Given the description of an element on the screen output the (x, y) to click on. 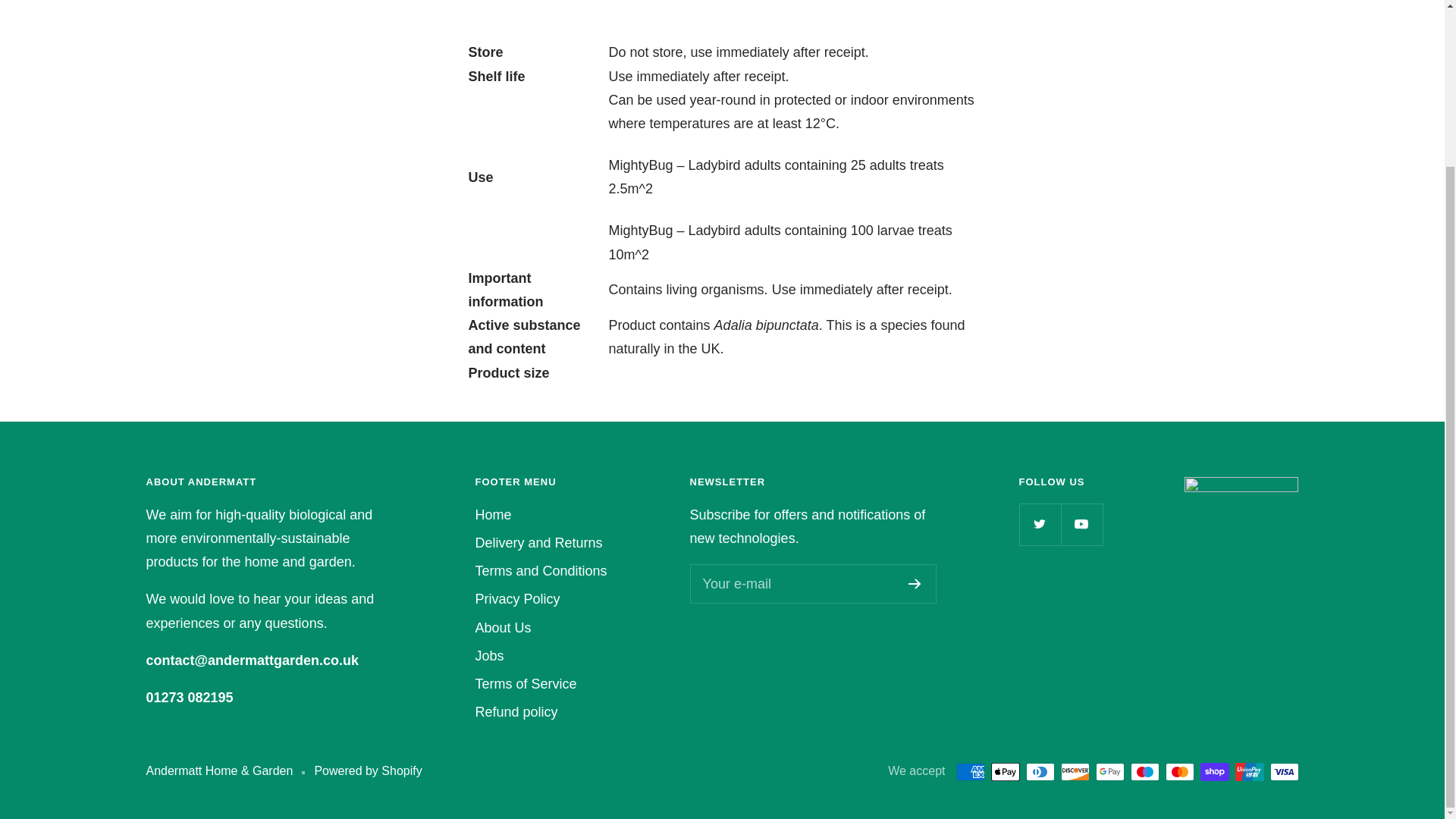
About Us (502, 627)
Register (914, 583)
Home (492, 515)
Refund policy (515, 712)
Delivery and Returns (538, 543)
Terms and Conditions (540, 571)
Privacy Policy (516, 599)
Terms of Service (525, 684)
Jobs (488, 656)
Powered by Shopify (368, 771)
